Given the description of an element on the screen output the (x, y) to click on. 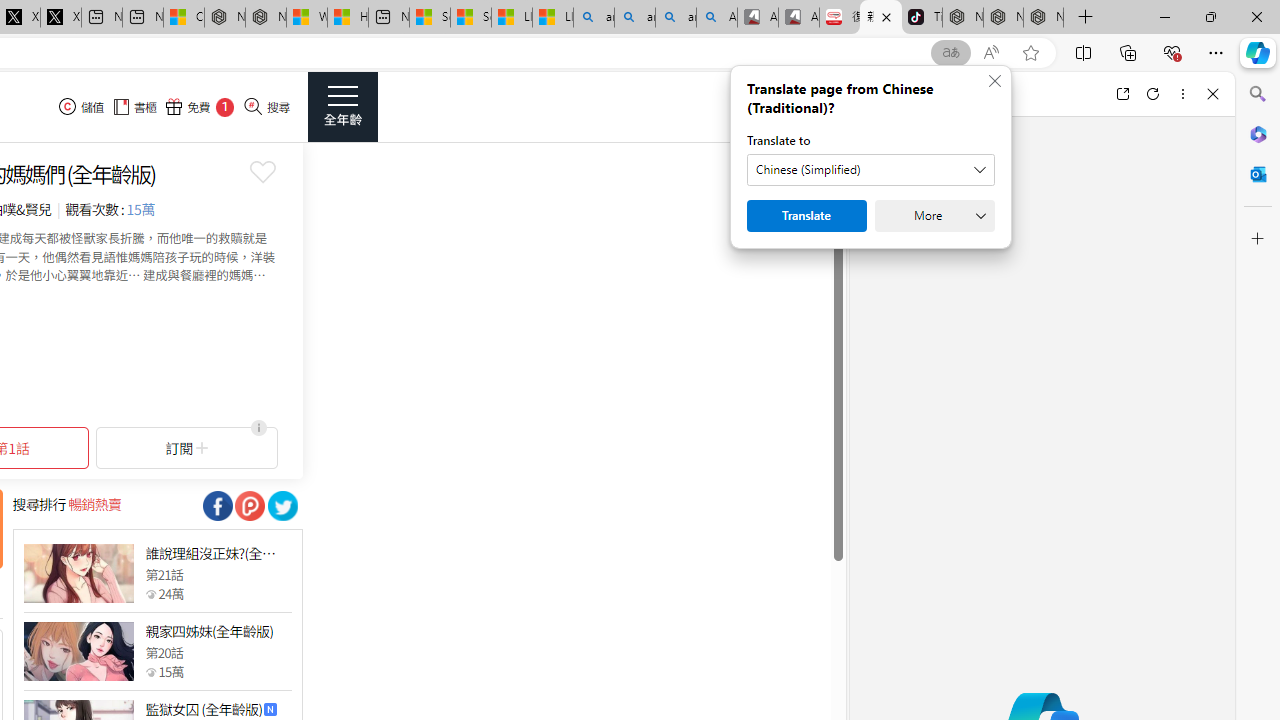
TikTok (922, 17)
amazon - Search (634, 17)
More (934, 215)
Class: epicon_starpoint (150, 671)
X (60, 17)
Class: thumb_img (78, 651)
